Given the description of an element on the screen output the (x, y) to click on. 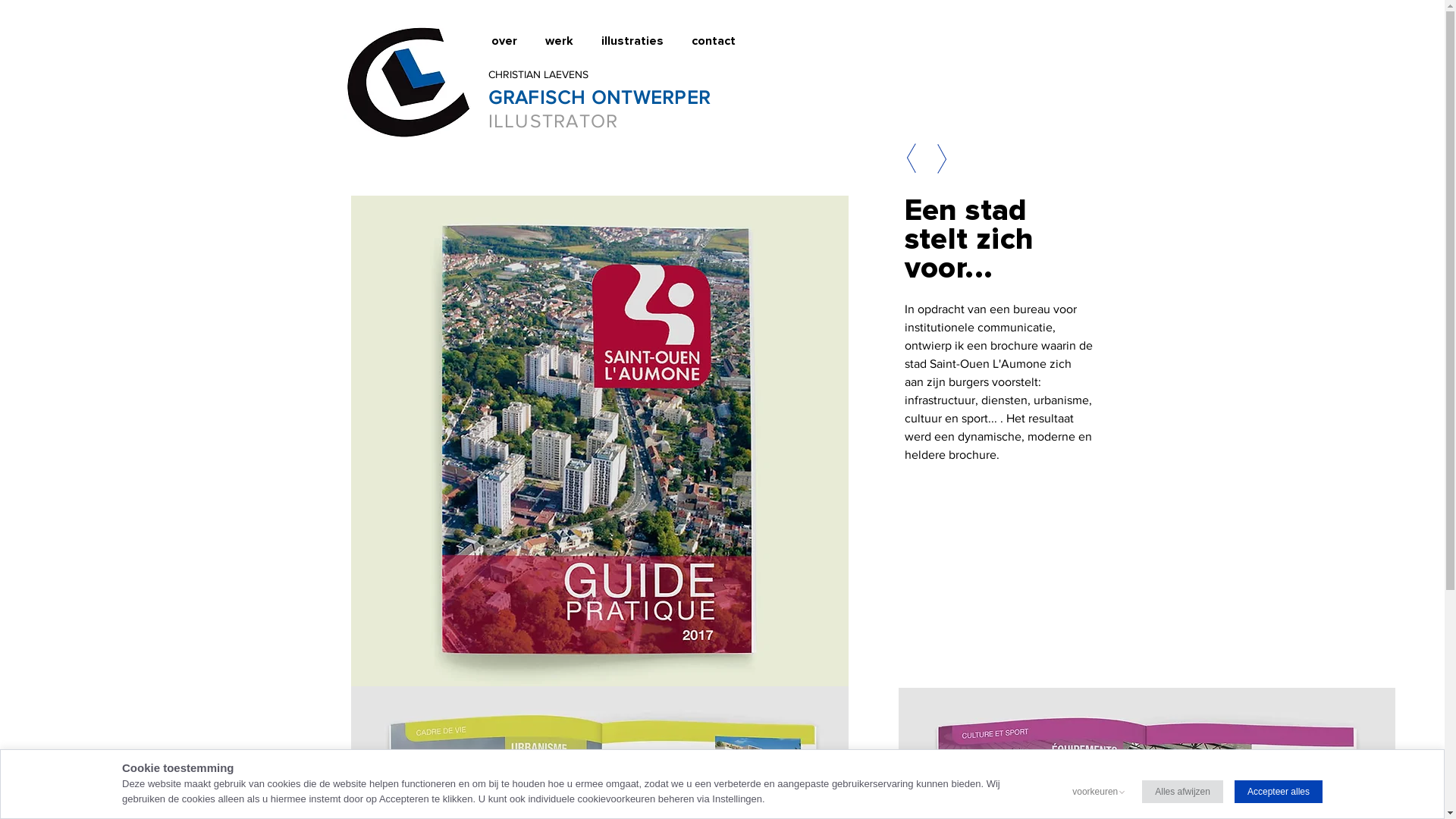
illustraties Element type: text (634, 41)
werk Element type: text (561, 41)
Alles afwijzen Element type: text (1182, 791)
over Element type: text (506, 41)
contact Element type: text (715, 41)
voorkeuren Element type: text (1094, 791)
Accepteer alles Element type: text (1278, 791)
